Given the description of an element on the screen output the (x, y) to click on. 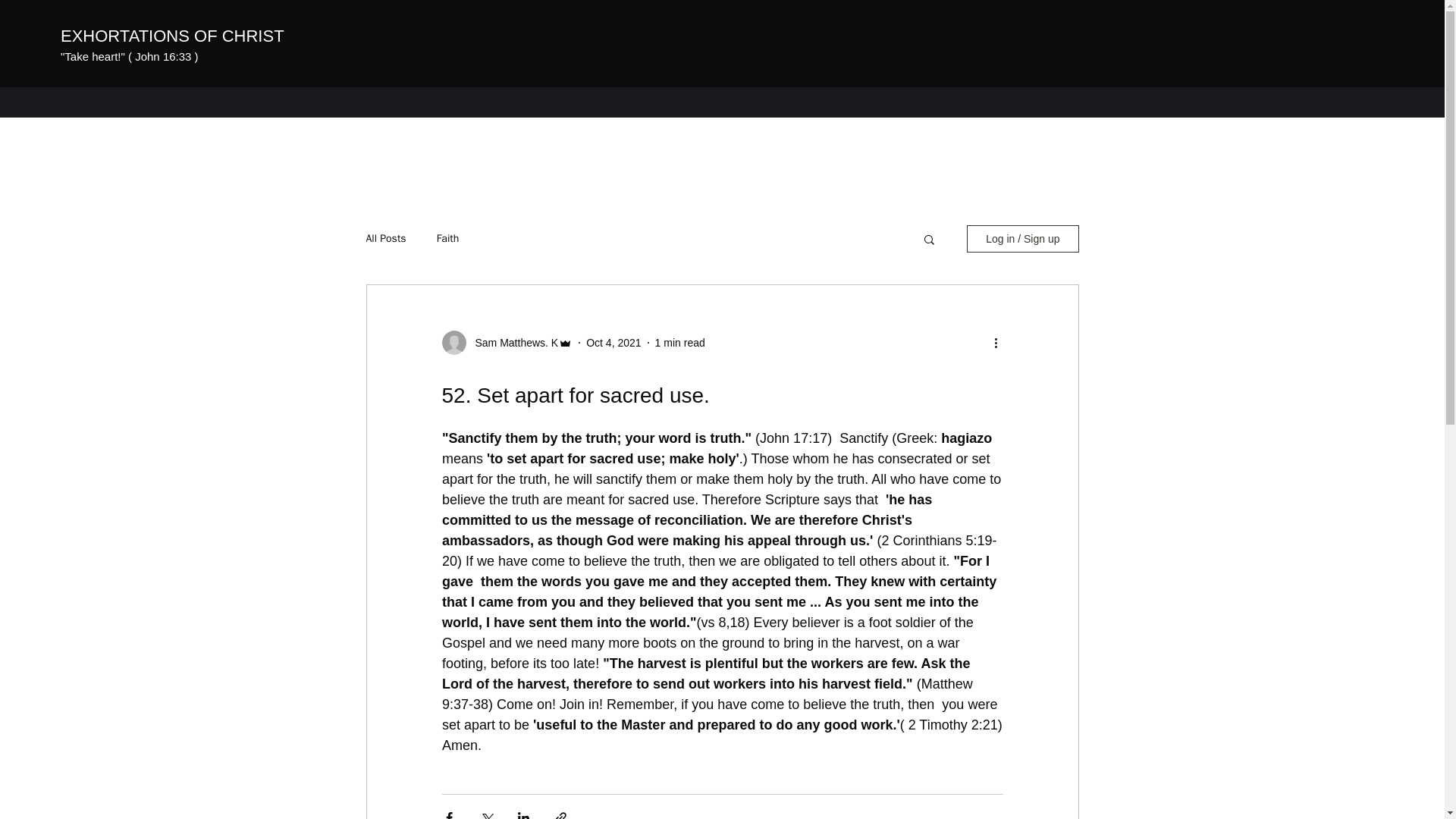
Home (74, 101)
Sam Matthews. K (511, 342)
Oct 4, 2021 (613, 342)
All Posts (385, 238)
1 min read (679, 342)
Faith (448, 238)
Blog (115, 101)
